Given the description of an element on the screen output the (x, y) to click on. 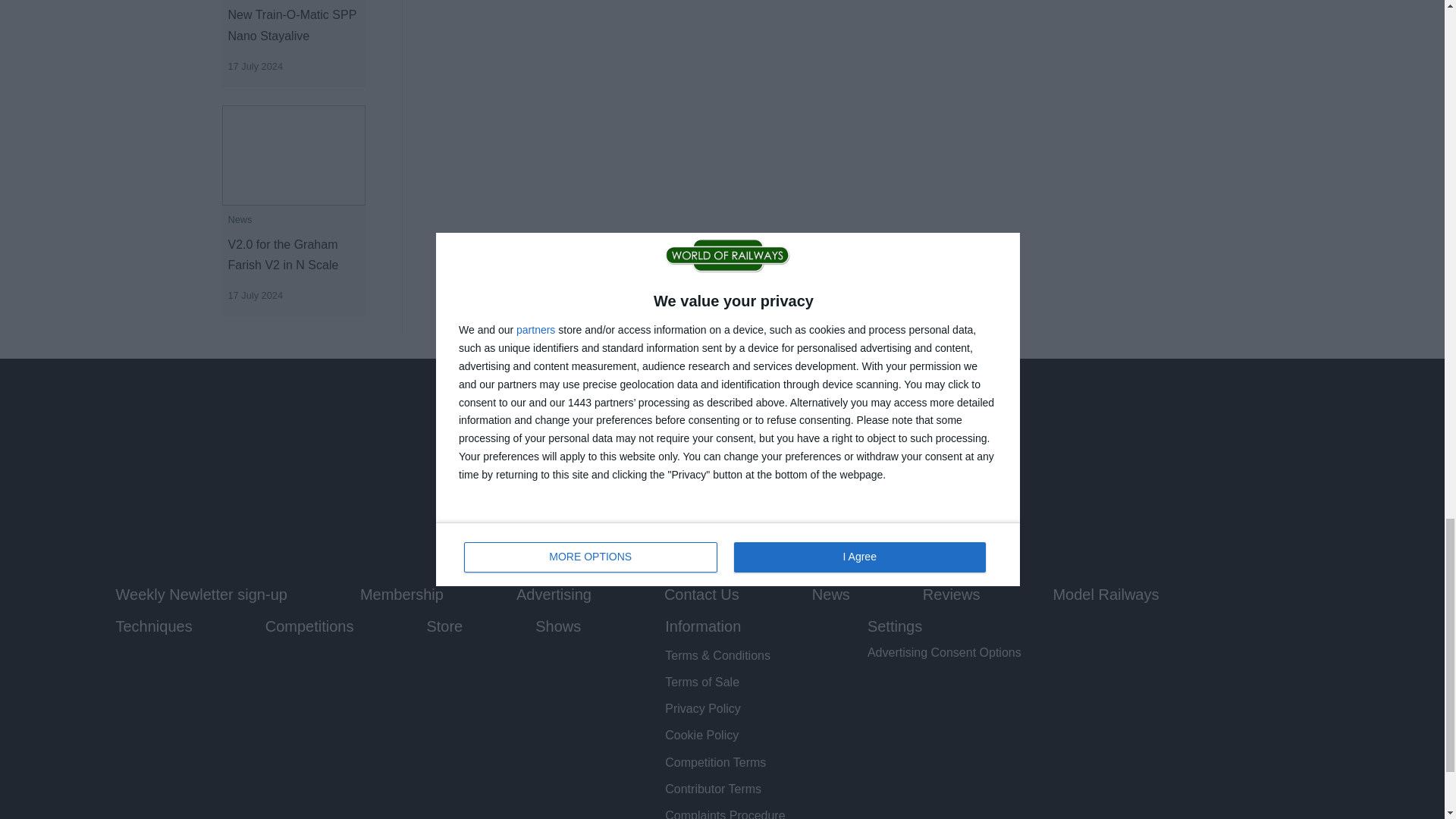
View your Advertising Consent options for this website (944, 652)
